Given the description of an element on the screen output the (x, y) to click on. 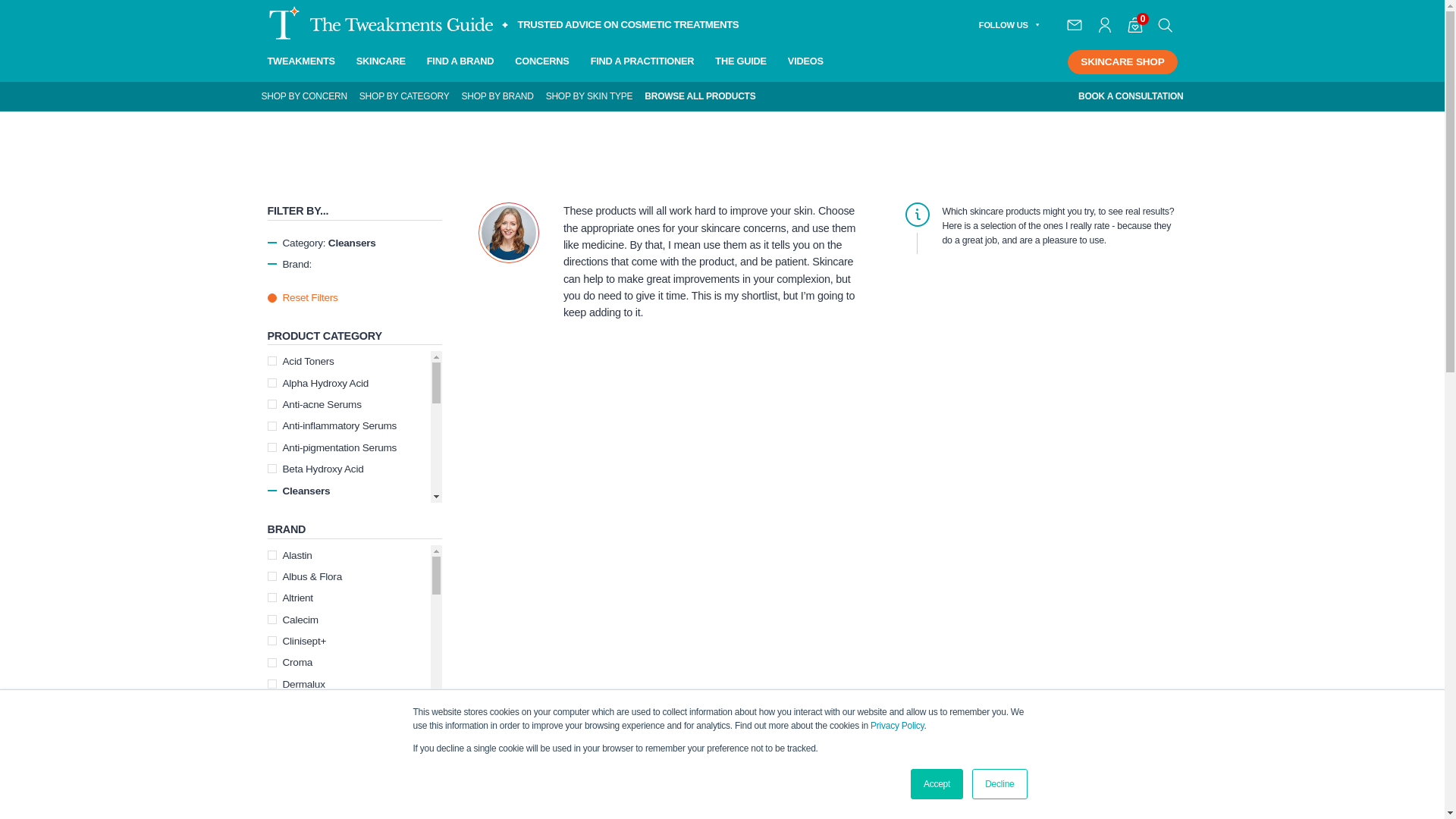
SKINCARE (381, 61)
FIND A PRACTITIONER (642, 61)
FIND A BRAND (460, 61)
0 (1134, 24)
Accept (936, 784)
THE GUIDE (740, 61)
Decline (999, 784)
VIDEOS (805, 61)
SKINCARE SHOP (1121, 61)
Privacy Policy (896, 725)
FOLLOW US (1009, 24)
TWEAKMENTS (300, 61)
CONCERNS (542, 61)
